Given the description of an element on the screen output the (x, y) to click on. 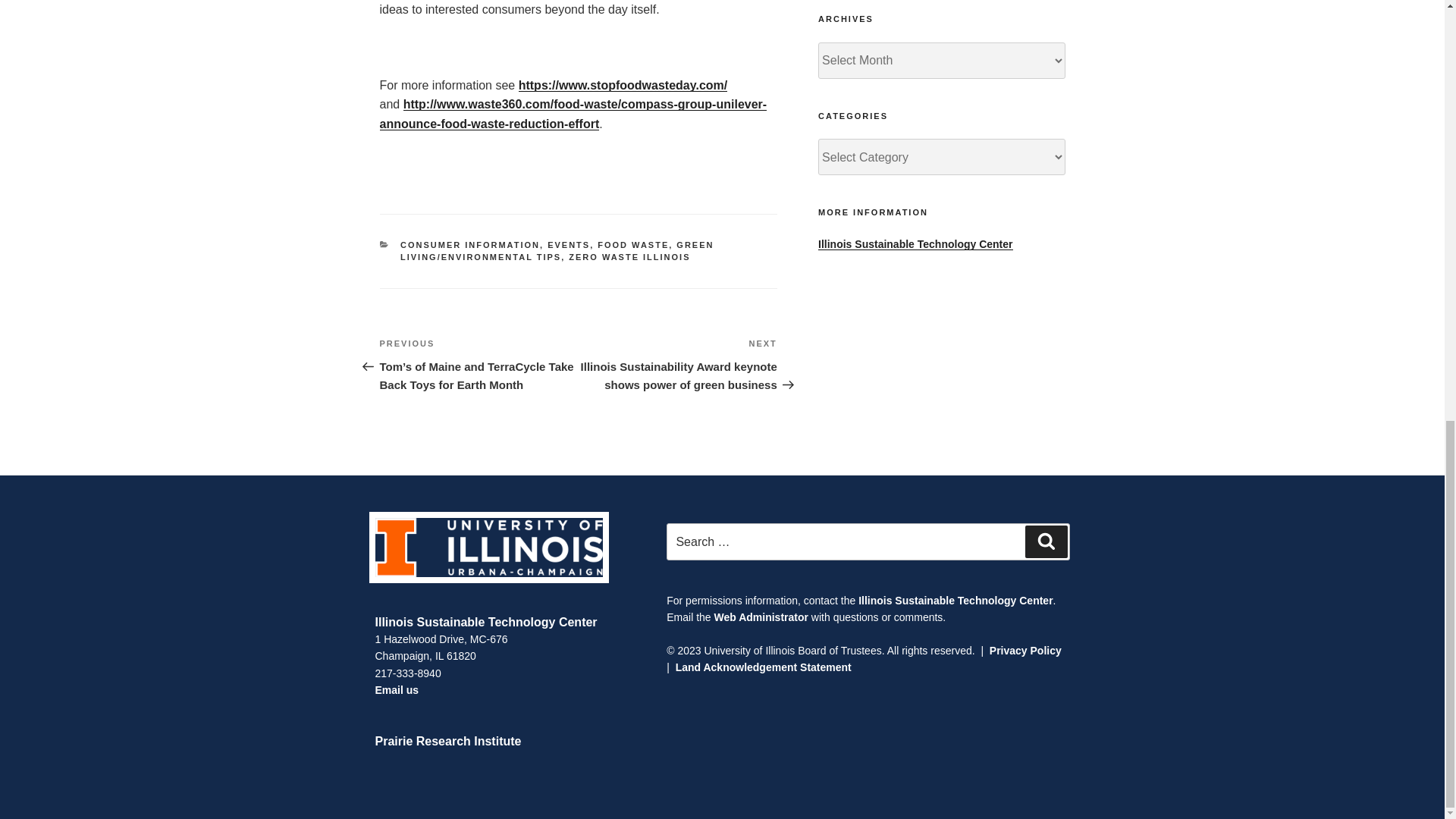
Prairie Research Institute (447, 740)
Email us (396, 689)
Illinois Sustainable Technology Center (914, 244)
Illinois Sustainable Technology Center (955, 600)
ZERO WASTE ILLINOIS (629, 256)
FOOD WASTE (632, 244)
CONSUMER INFORMATION (470, 244)
EVENTS (568, 244)
Illinois Sustainable Technology Center (485, 621)
